Given the description of an element on the screen output the (x, y) to click on. 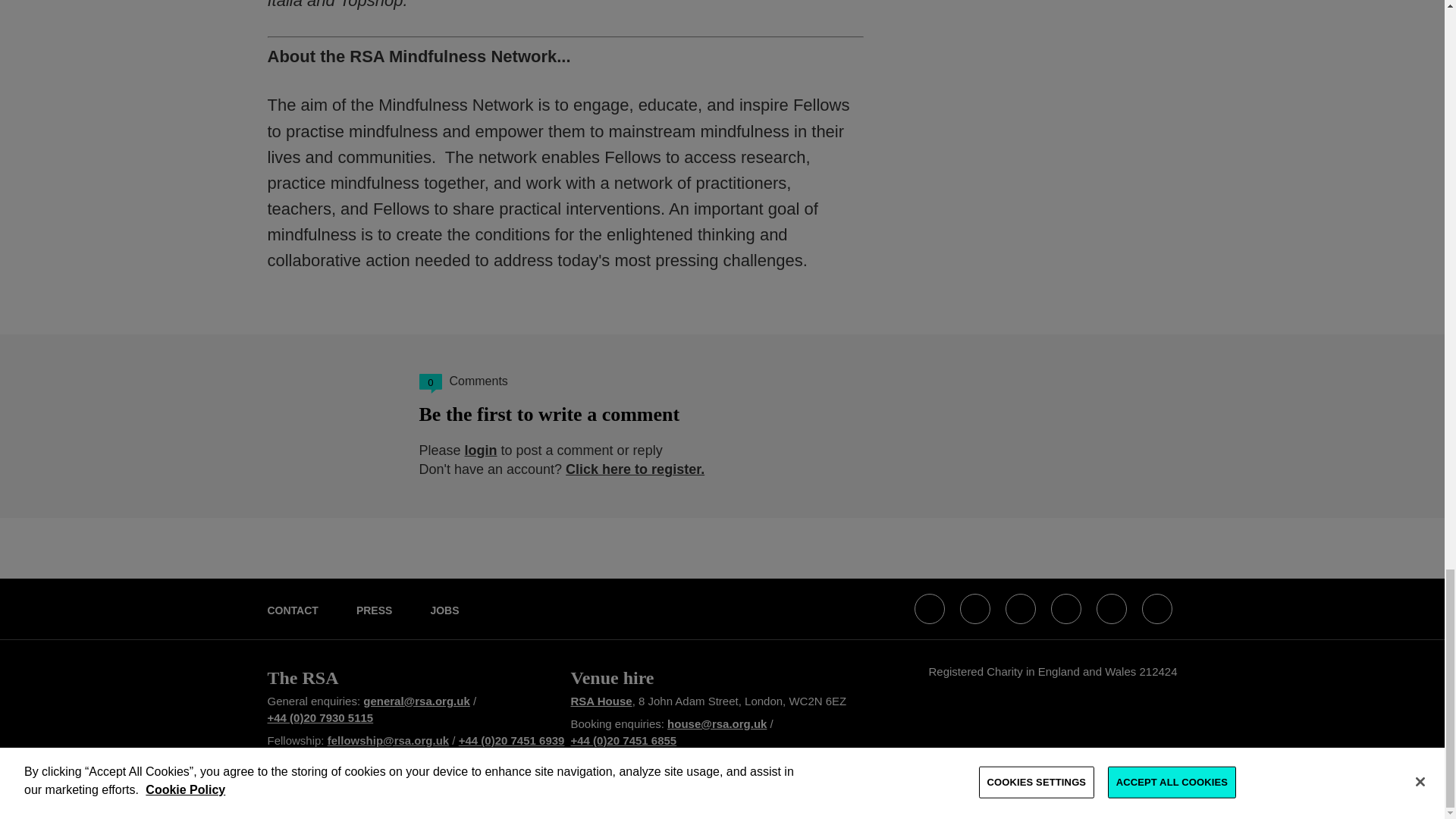
0 (430, 383)
